Given the description of an element on the screen output the (x, y) to click on. 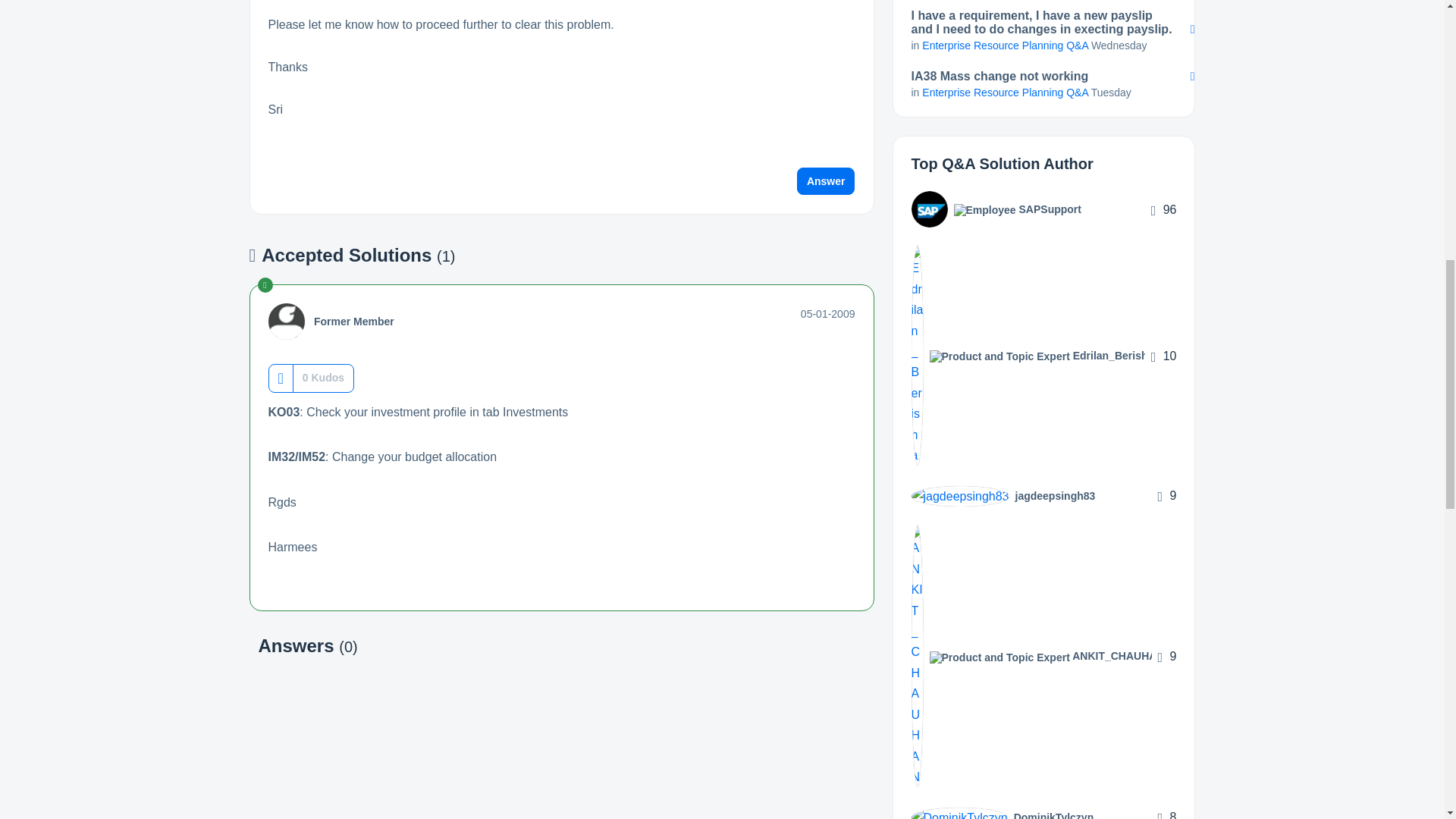
Answer (826, 180)
The total number of kudos this post has received. (323, 377)
Posted on (828, 313)
